Given the description of an element on the screen output the (x, y) to click on. 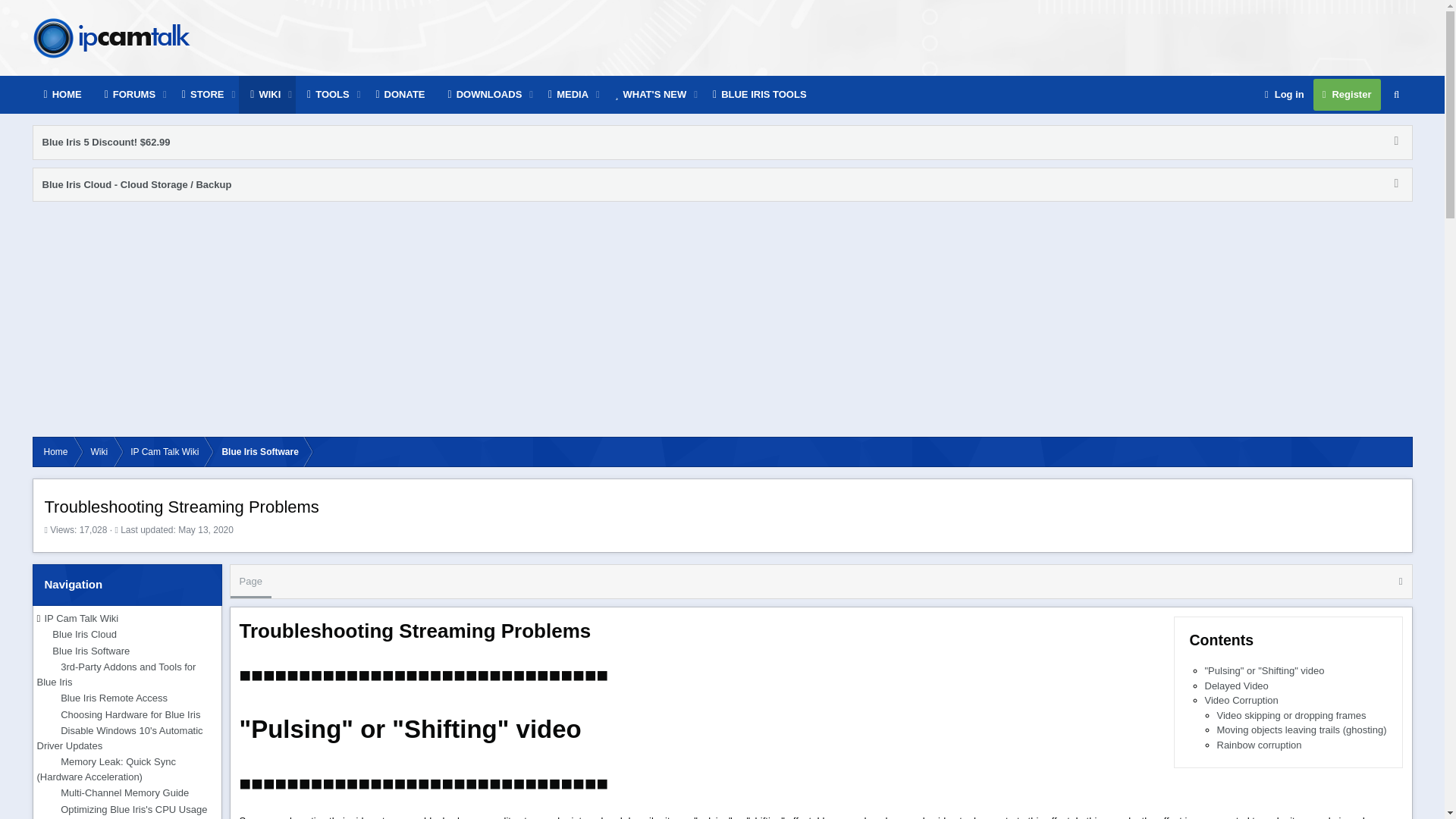
DOWNLOADS (485, 94)
STORE (202, 94)
Page (810, 598)
MEDIA (568, 94)
WIKI (265, 94)
TOOLS (328, 94)
HOME (62, 94)
